Given the description of an element on the screen output the (x, y) to click on. 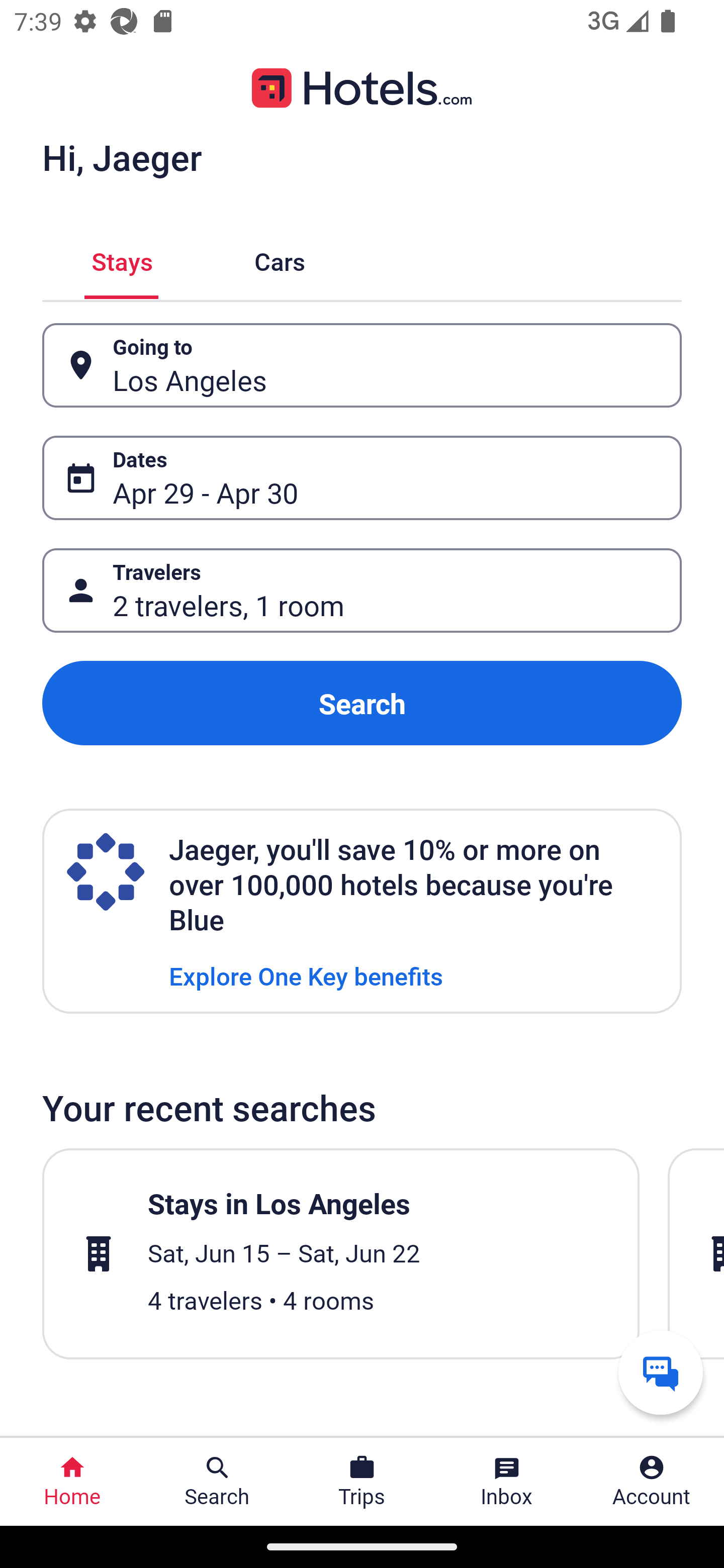
Hi, Jaeger (121, 156)
Cars (279, 259)
Going to Button Los Angeles (361, 365)
Dates Button Apr 29 - Apr 30 (361, 477)
Travelers Button 2 travelers, 1 room (361, 590)
Search (361, 702)
Get help from a virtual agent (660, 1371)
Search Search Button (216, 1481)
Trips Trips Button (361, 1481)
Inbox Inbox Button (506, 1481)
Account Profile. Button (651, 1481)
